Given the description of an element on the screen output the (x, y) to click on. 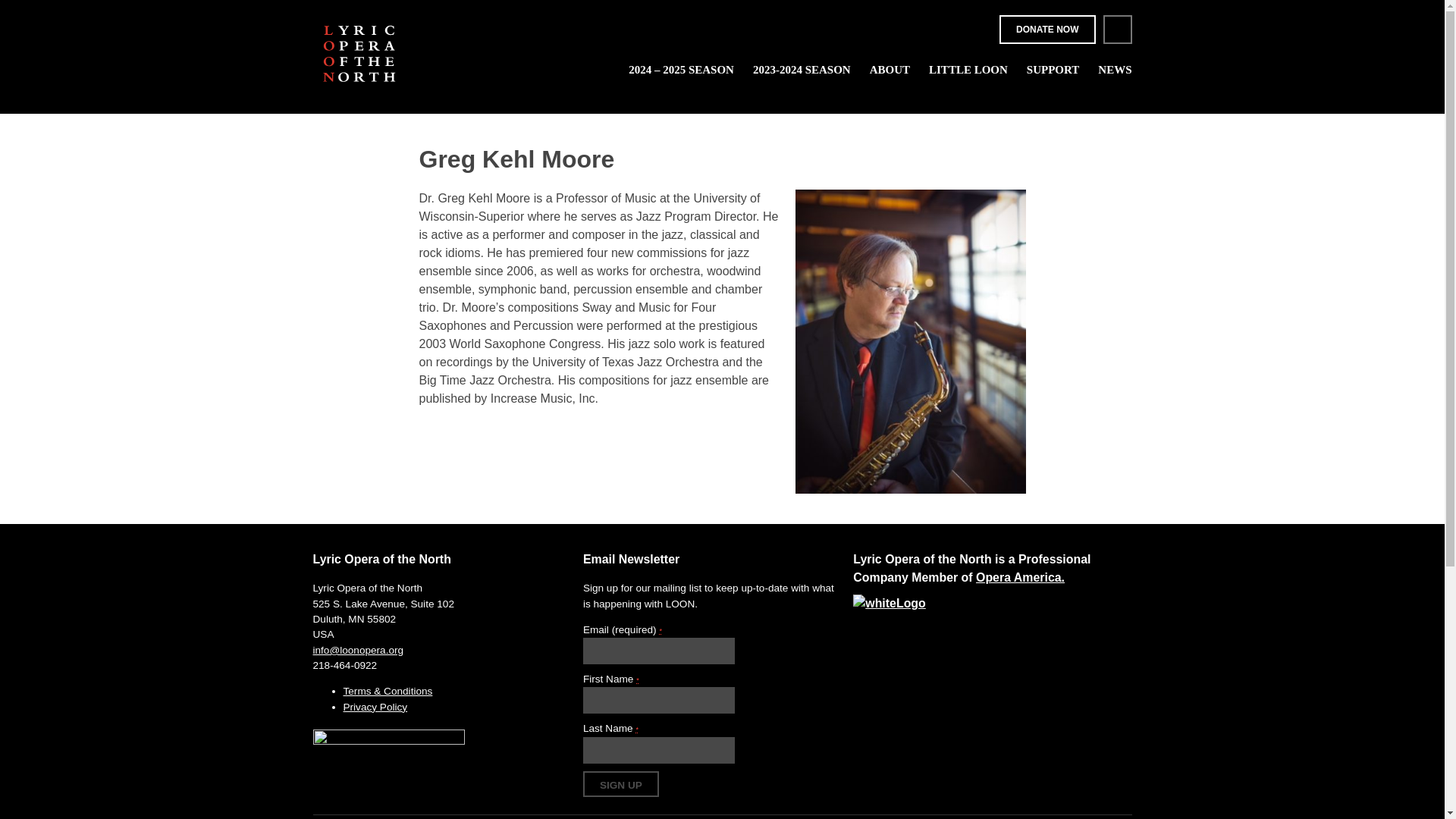
DONATE NOW (1046, 29)
NEWS (1114, 69)
VISIT US ON FACEBOOK (1116, 29)
ABOUT (889, 69)
LITTLE LOON (967, 69)
Privacy Policy (374, 706)
Sign up (621, 783)
2023-2024 SEASON (801, 69)
SUPPORT (1052, 69)
